Given the description of an element on the screen output the (x, y) to click on. 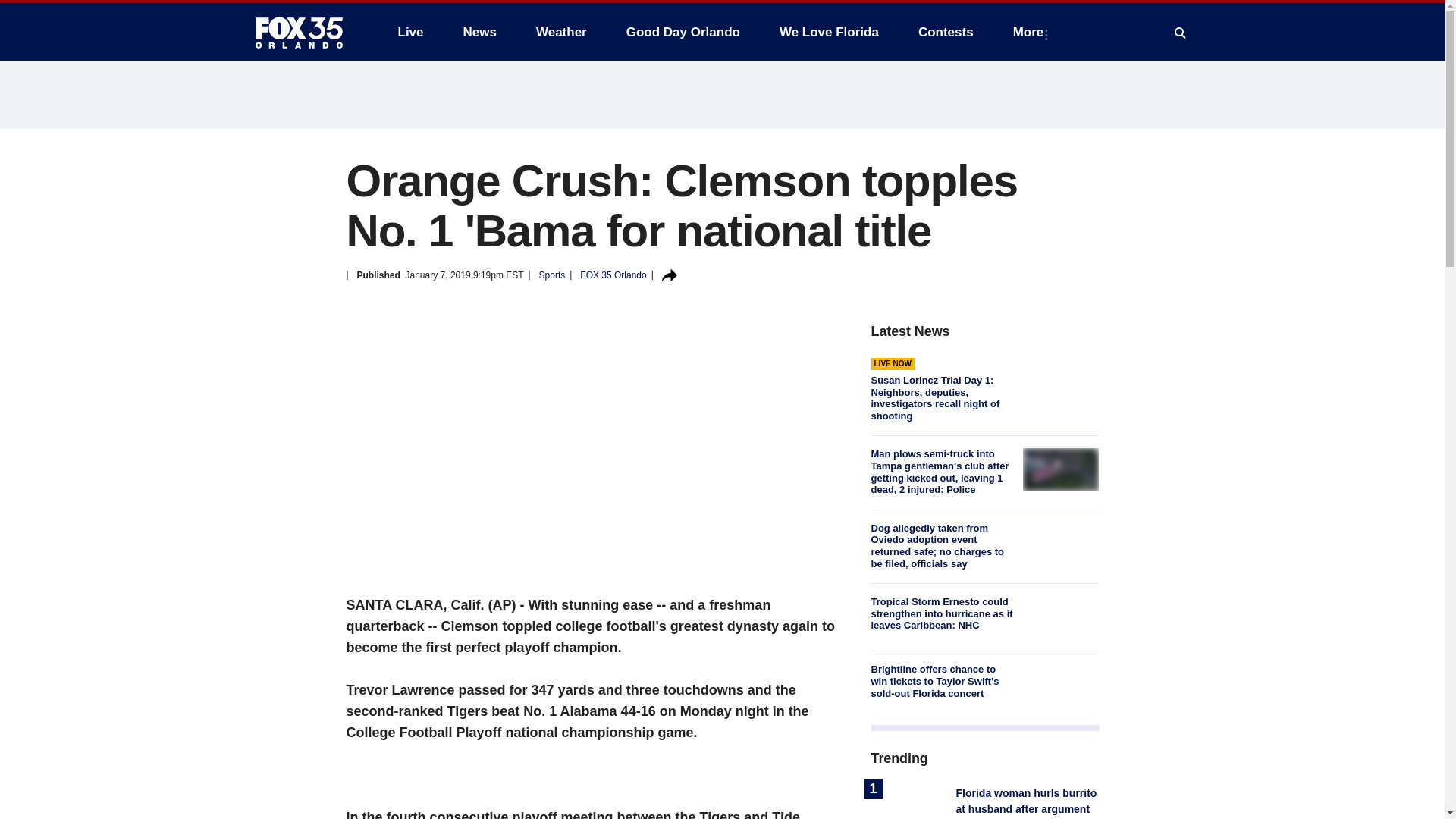
Contests (945, 32)
Live (410, 32)
News (479, 32)
We Love Florida (829, 32)
More (1031, 32)
Good Day Orlando (683, 32)
Weather (561, 32)
